Given the description of an element on the screen output the (x, y) to click on. 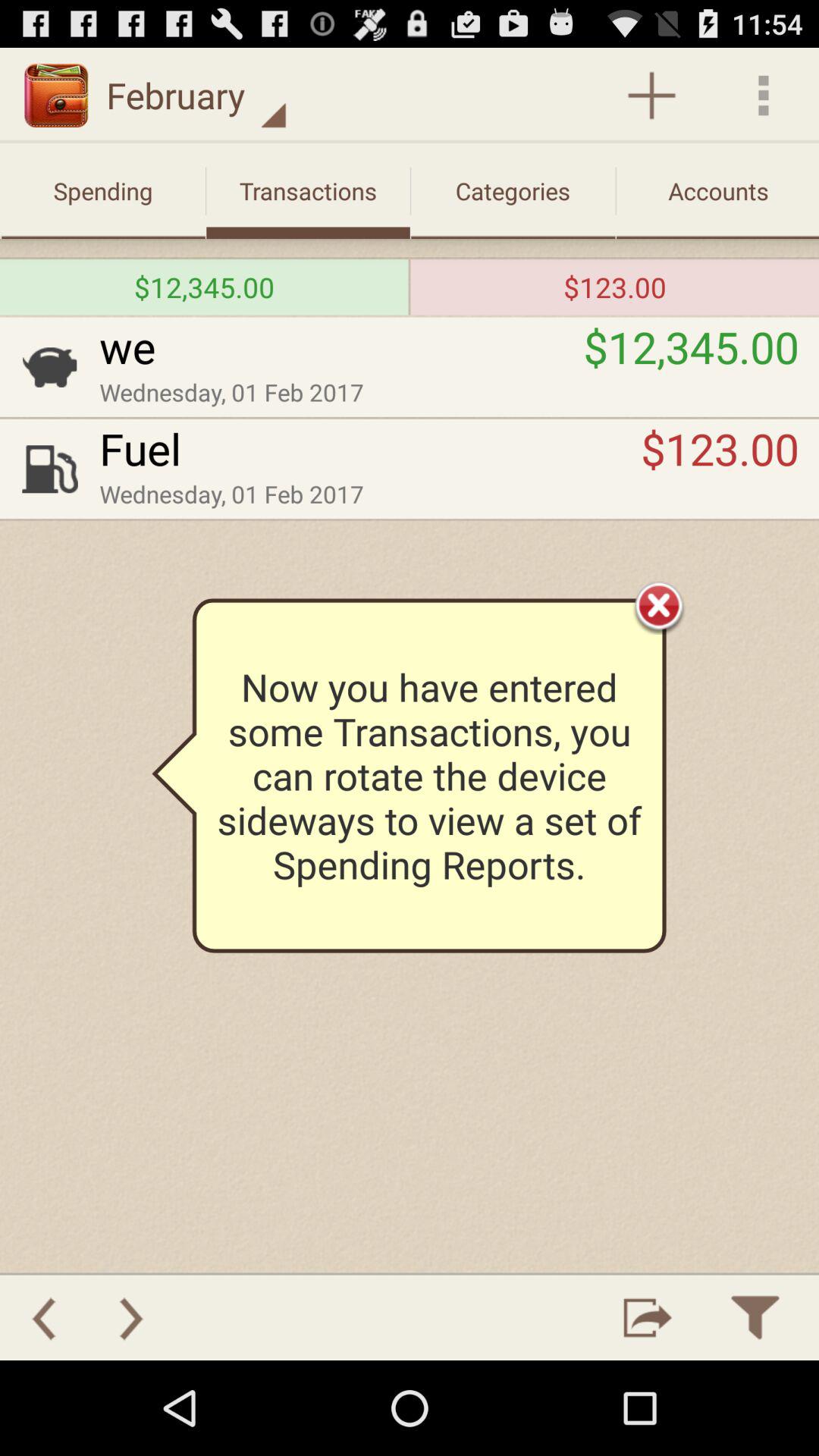
go forward (131, 1317)
